Given the description of an element on the screen output the (x, y) to click on. 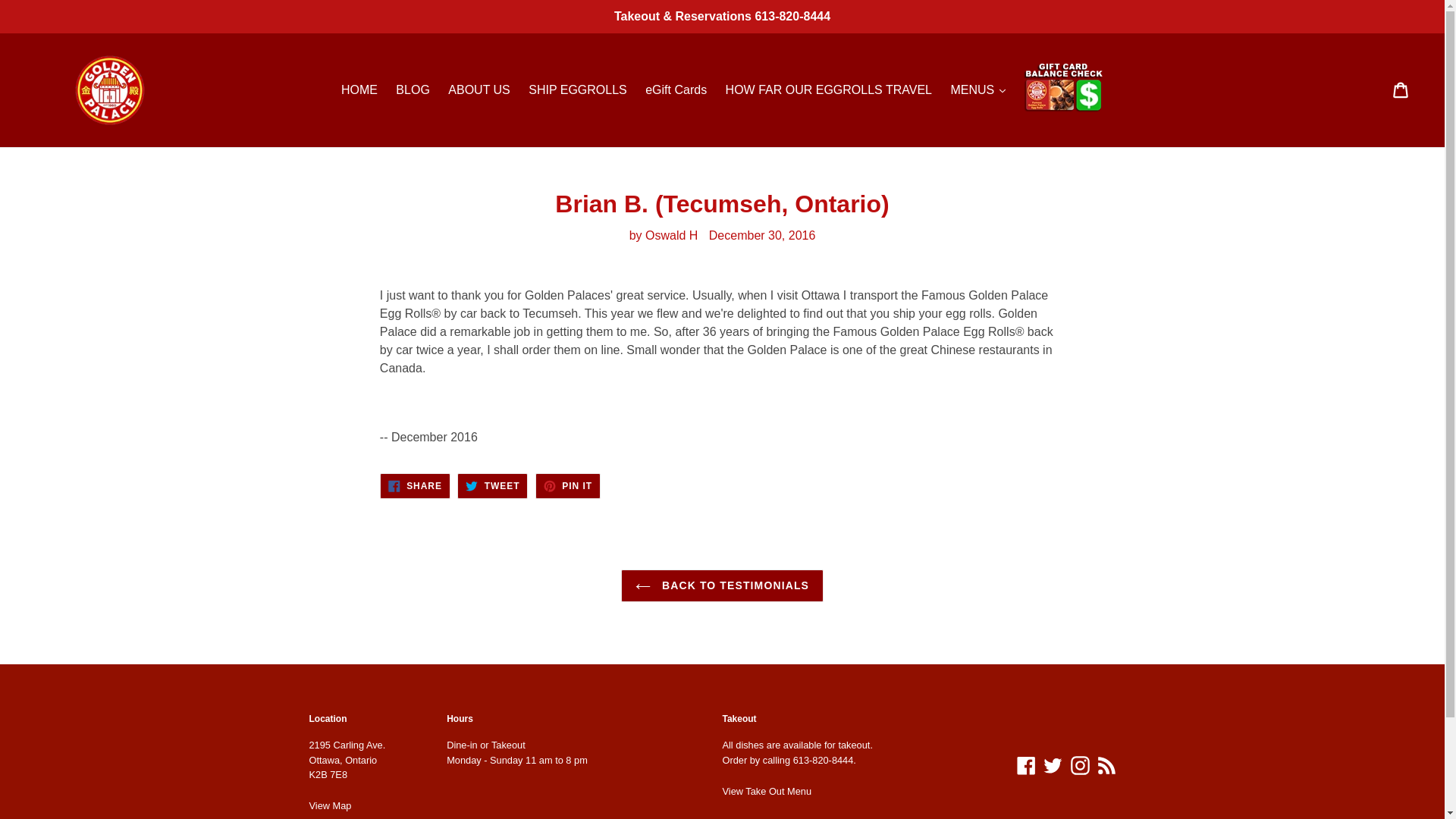
Twitter (1052, 764)
Share on Facebook (414, 485)
Pin on Pinterest (567, 485)
BACK TO TESTIMONIALS (722, 585)
eGift Cards (675, 89)
BLOG (412, 89)
HOW FAR OUR EGGROLLS TRAVEL (828, 89)
ABOUT US (479, 89)
Facebook (1026, 764)
View Map (330, 805)
Tweet on Twitter (414, 485)
Instagram (492, 485)
